Given the description of an element on the screen output the (x, y) to click on. 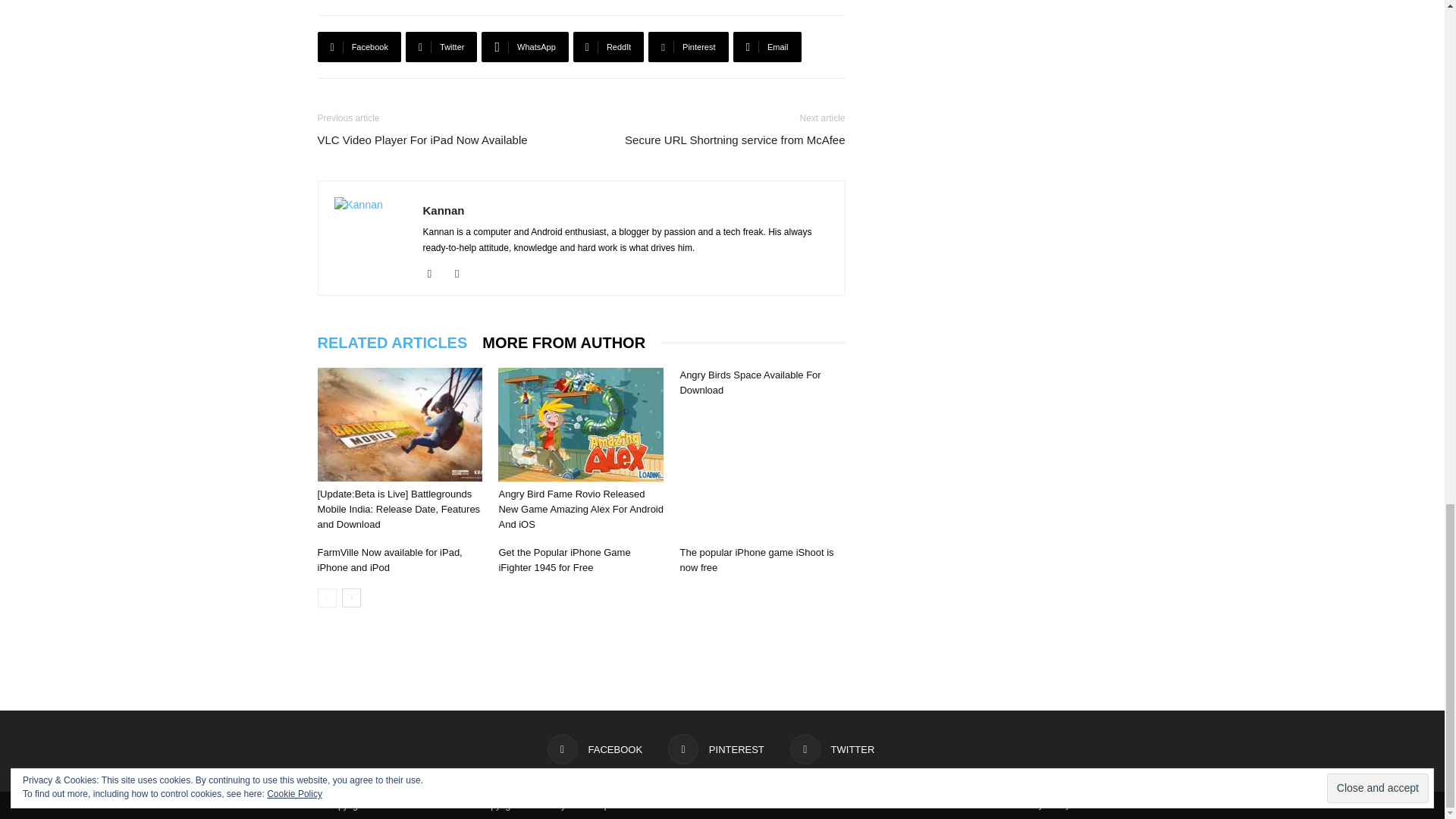
Pinterest (687, 46)
Facebook (358, 46)
WhatsApp (524, 46)
Email (767, 46)
ReddIt (609, 46)
Twitter (441, 46)
